Given the description of an element on the screen output the (x, y) to click on. 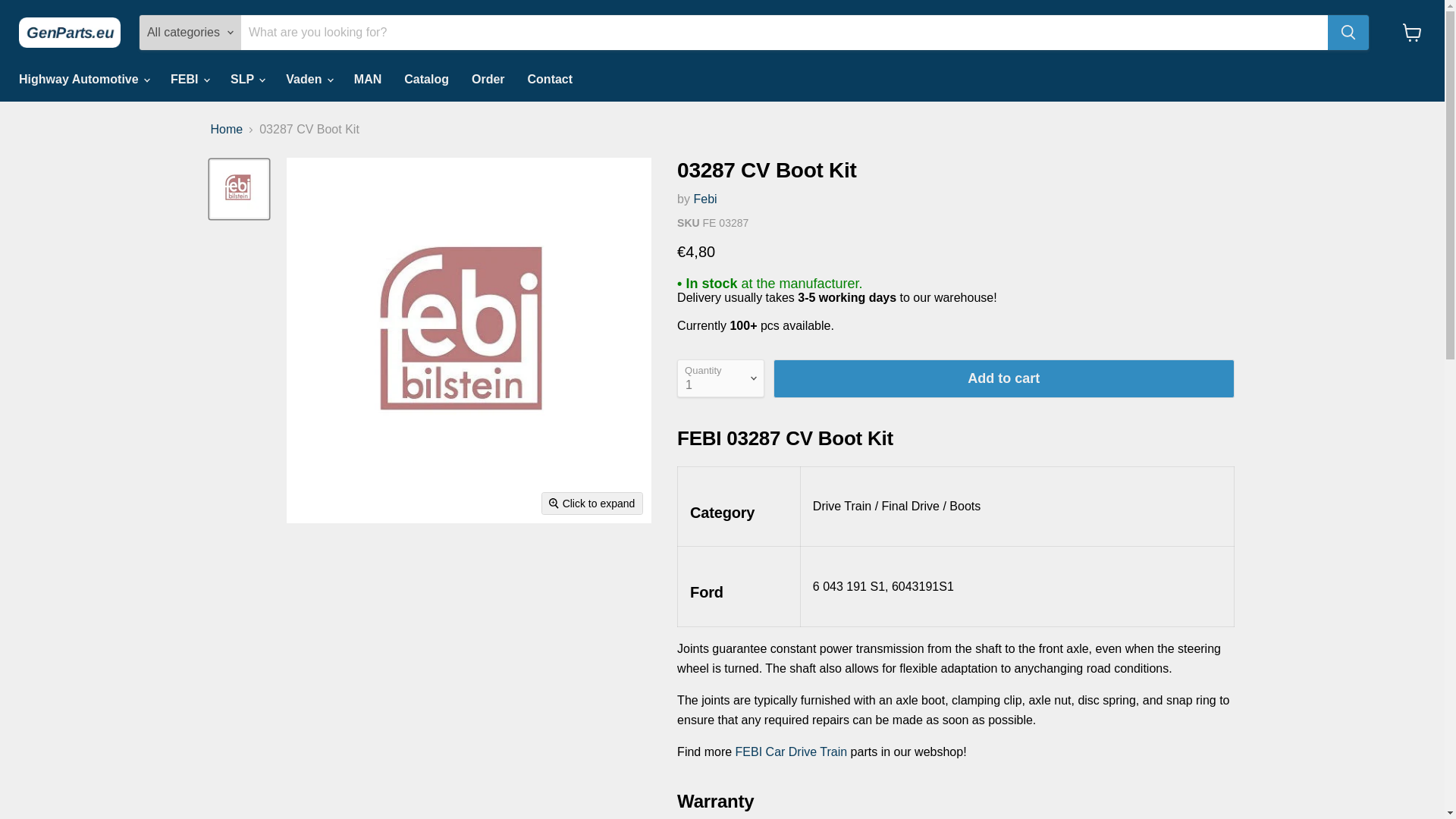
View cart (1411, 32)
FEBI Car Drive Train (791, 751)
Febi (704, 198)
